Given the description of an element on the screen output the (x, y) to click on. 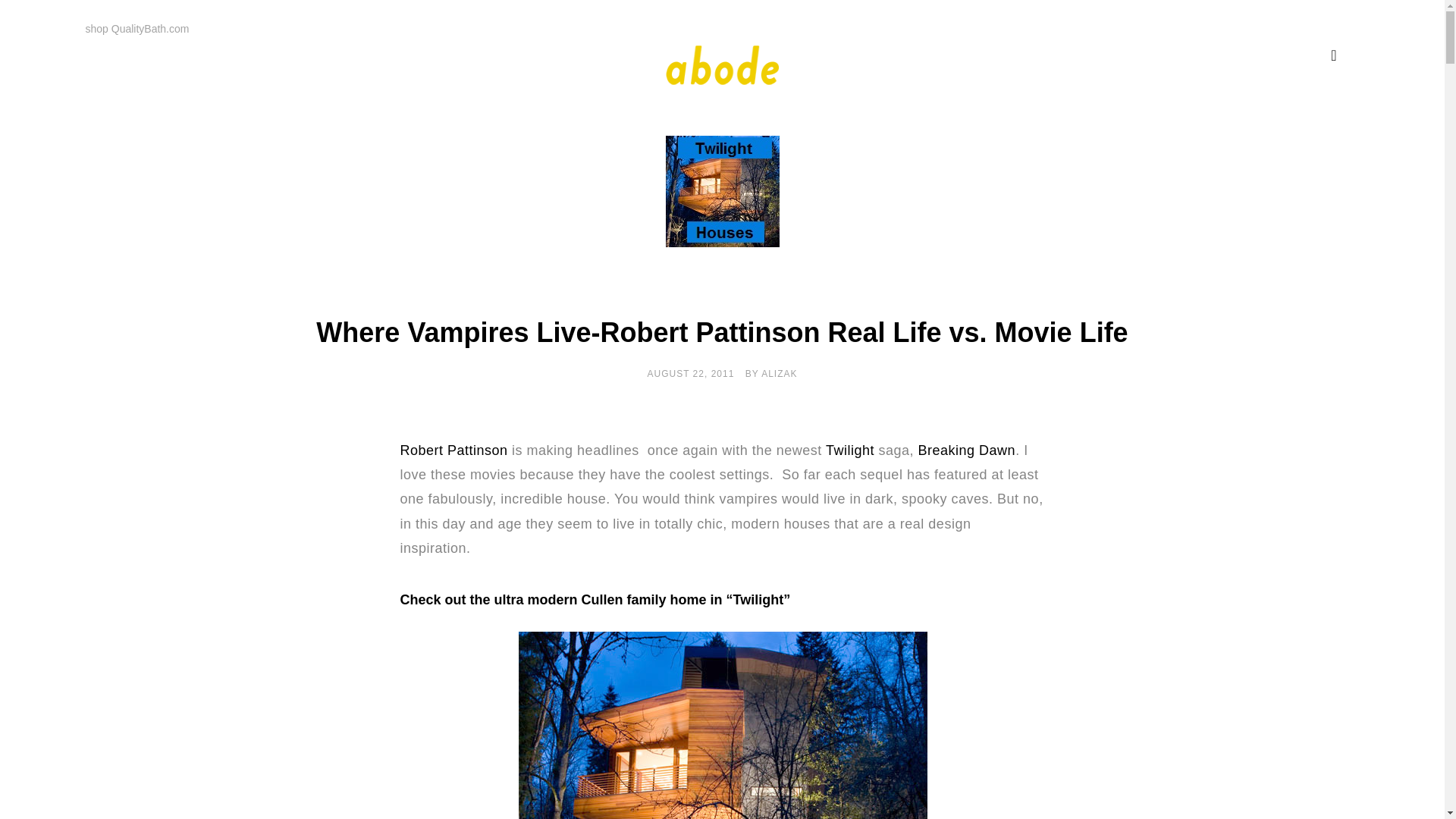
Breaking Dawn Trailer (967, 450)
Twilight's-cullen-family-home (721, 725)
Twilight- the movie (848, 450)
shop QualityBath.com (136, 28)
Link to Quality Bath (136, 28)
Robert Pattinson (454, 450)
ALIZAK (778, 373)
Twilight (848, 450)
Search (43, 20)
Breaking Dawn (967, 450)
AUGUST 22, 2011 (691, 373)
About Robert Pattinson- People (454, 450)
